Given the description of an element on the screen output the (x, y) to click on. 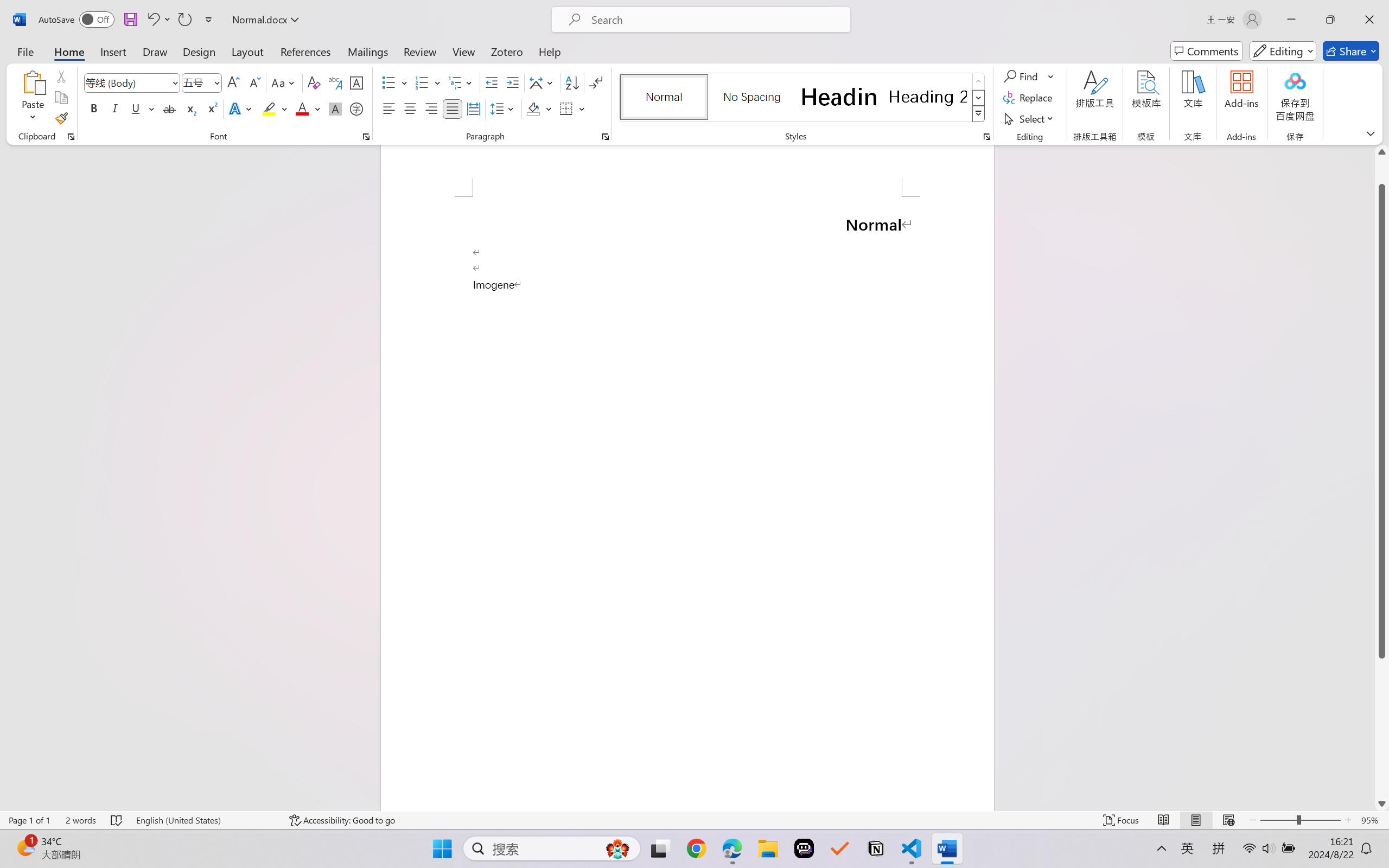
Class: NetUIScrollBar (1382, 477)
Text Effects and Typography (241, 108)
Line and Paragraph Spacing (503, 108)
Distributed (473, 108)
Subscript (190, 108)
